Given the description of an element on the screen output the (x, y) to click on. 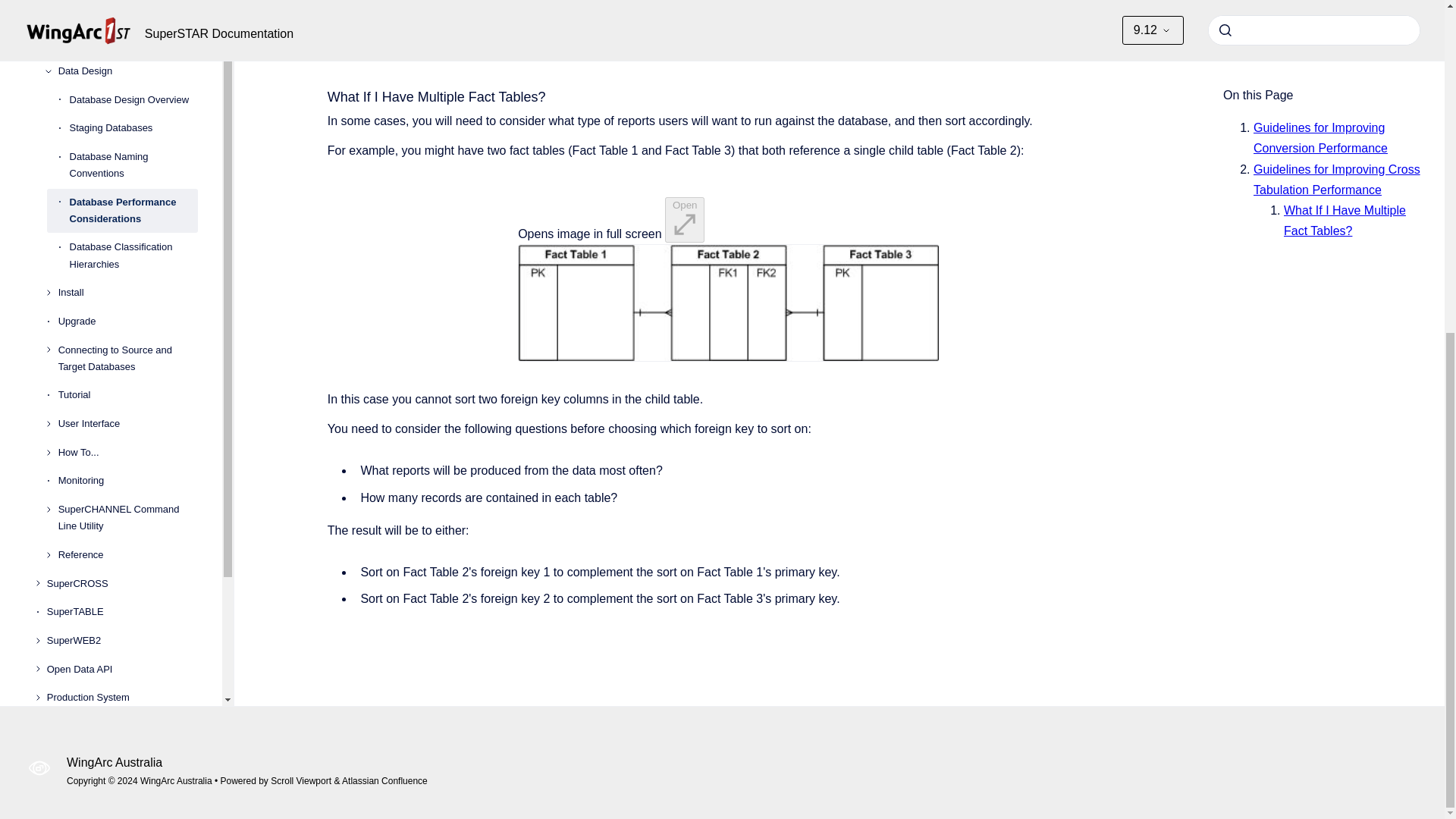
SuperTABLE (122, 171)
Reference (128, 113)
Monitoring (128, 40)
How To... (128, 12)
SuperWEB2 (122, 198)
SuperCHANNEL Command Line Utility (128, 76)
SuperCROSS (122, 142)
